Given the description of an element on the screen output the (x, y) to click on. 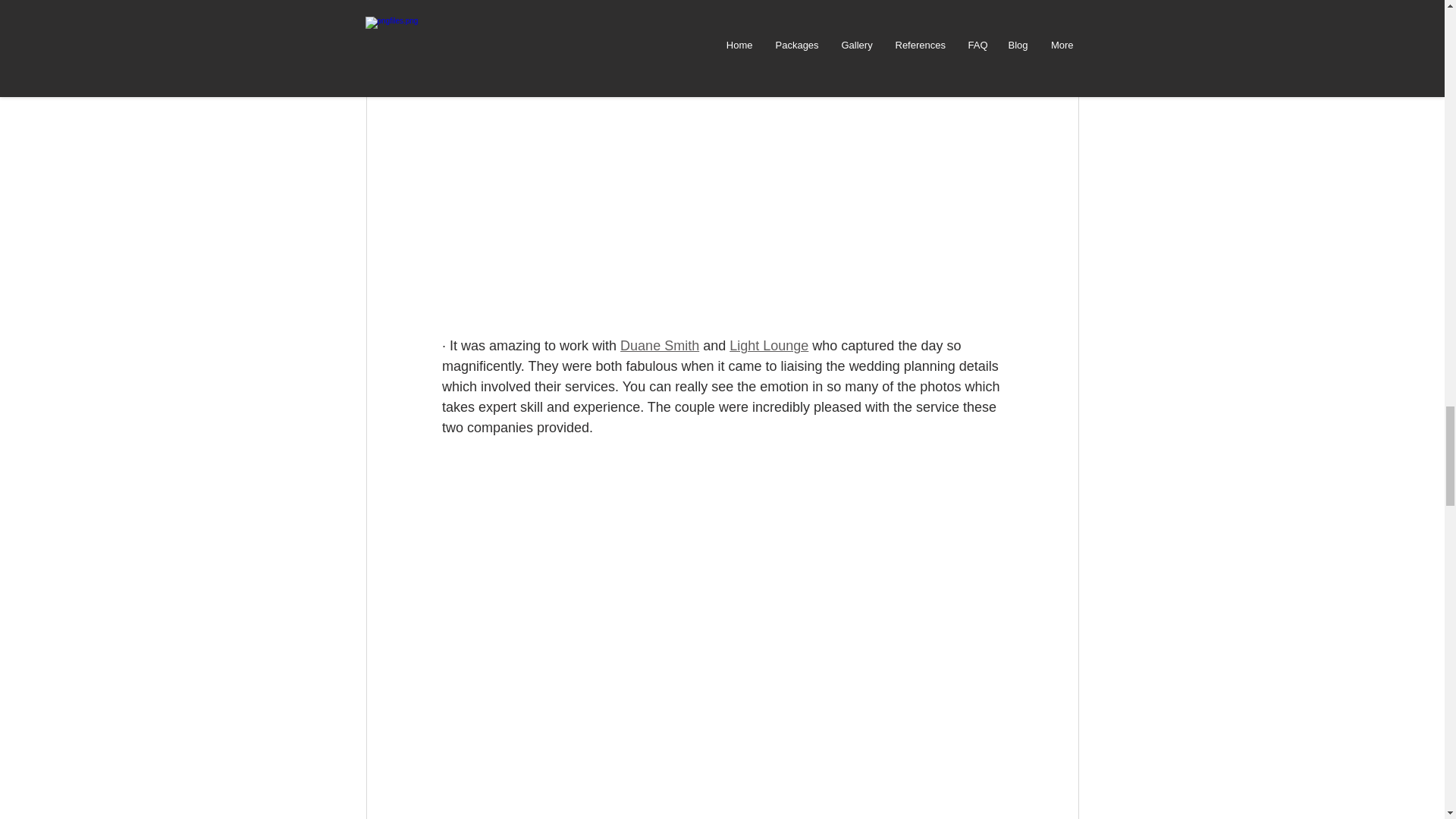
Duane Smith (659, 345)
Light Lounge (768, 345)
